Given the description of an element on the screen output the (x, y) to click on. 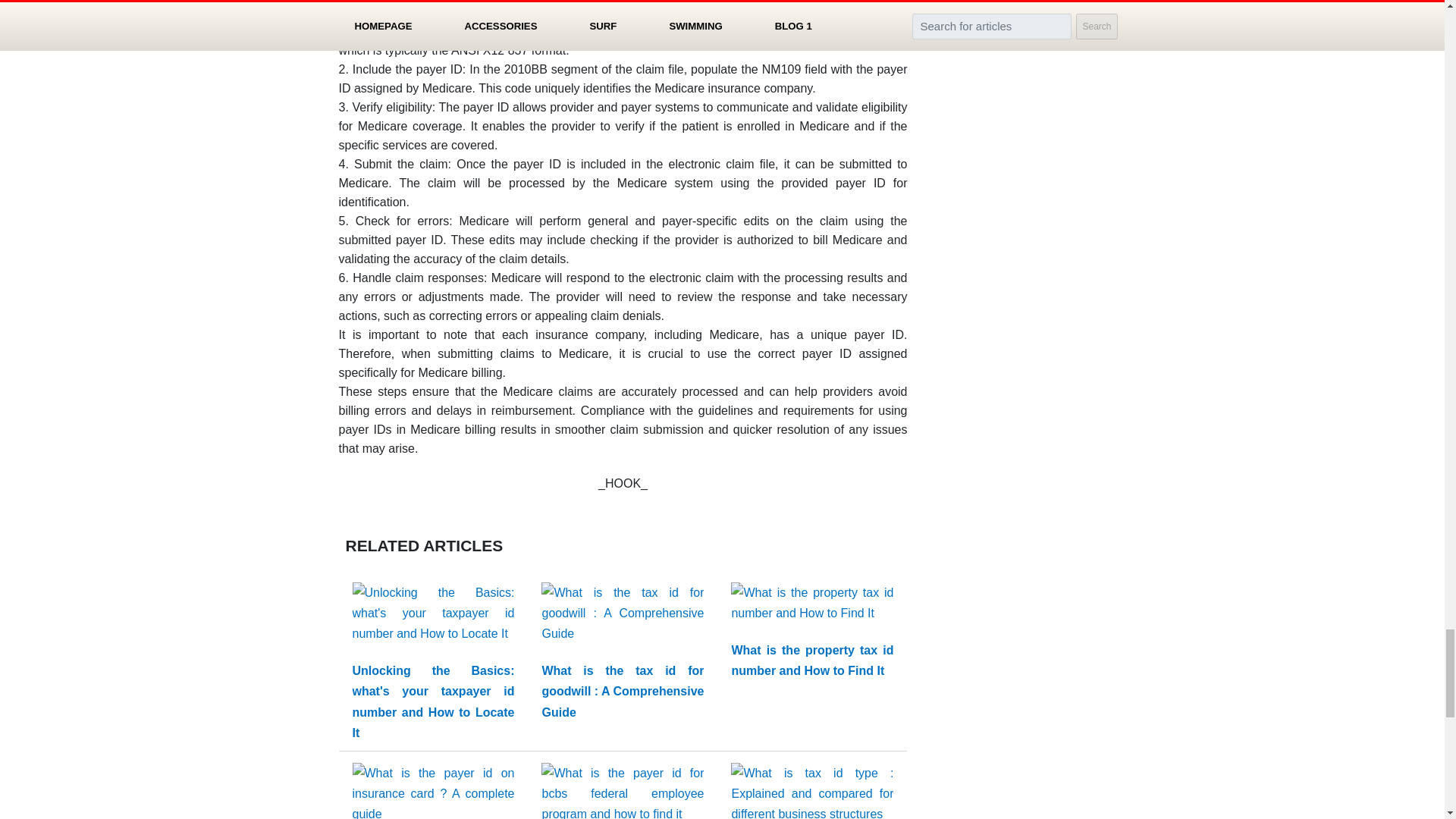
 What is the property tax id number and How to Find It (811, 659)
 What is the tax id for goodwill : A Comprehensive Guide (622, 616)
What is the tax id for goodwill : A Comprehensive Guide (622, 691)
 What is the payer id on insurance card ? A complete guide (432, 797)
What is the property tax id number and How to Find It (811, 659)
 What is the property tax id number and How to Find It (811, 605)
 What is the tax id for goodwill : A Comprehensive Guide (622, 691)
